Given the description of an element on the screen output the (x, y) to click on. 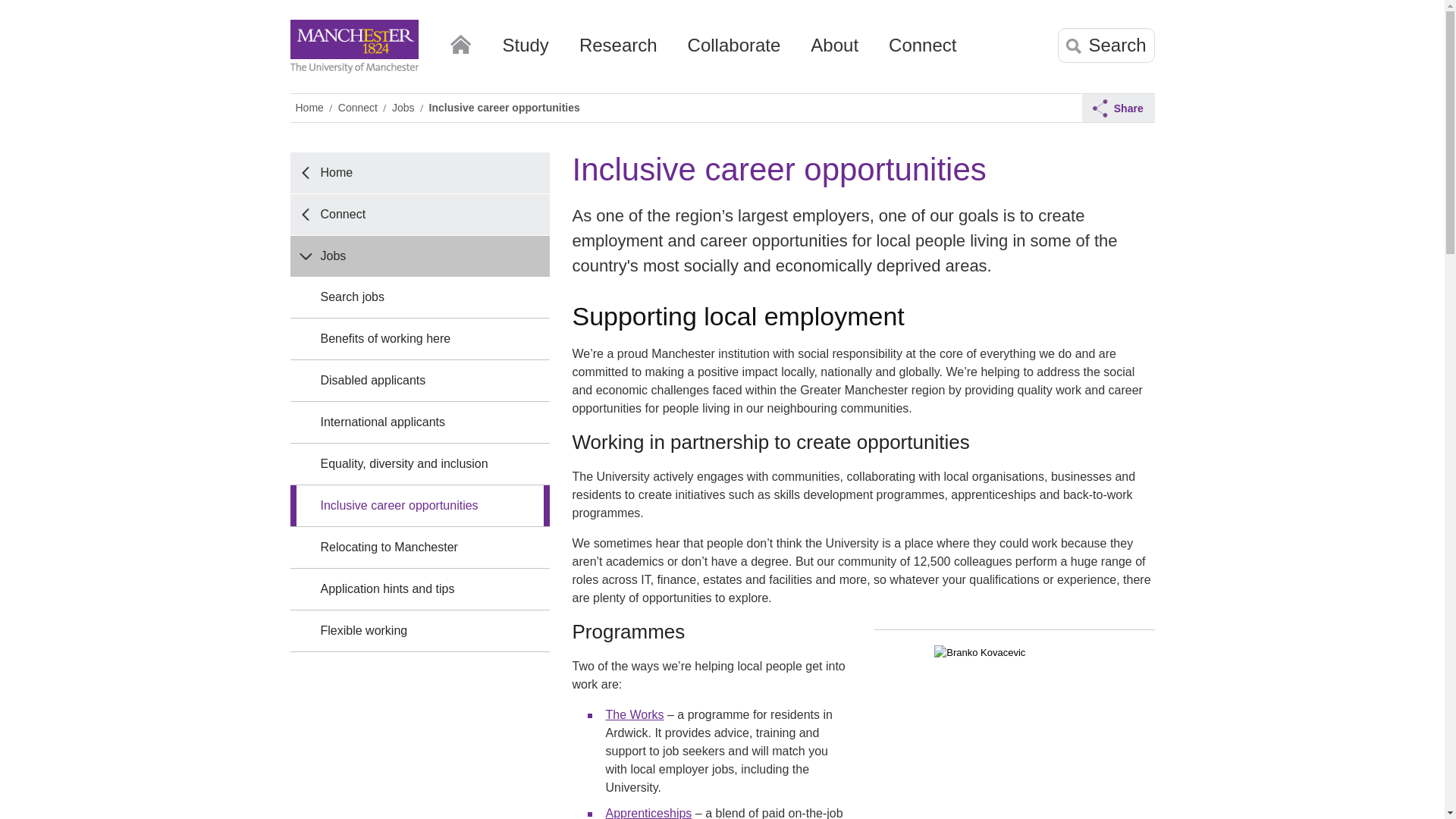
Study (524, 50)
Home (459, 41)
Research at the University (618, 50)
